Given the description of an element on the screen output the (x, y) to click on. 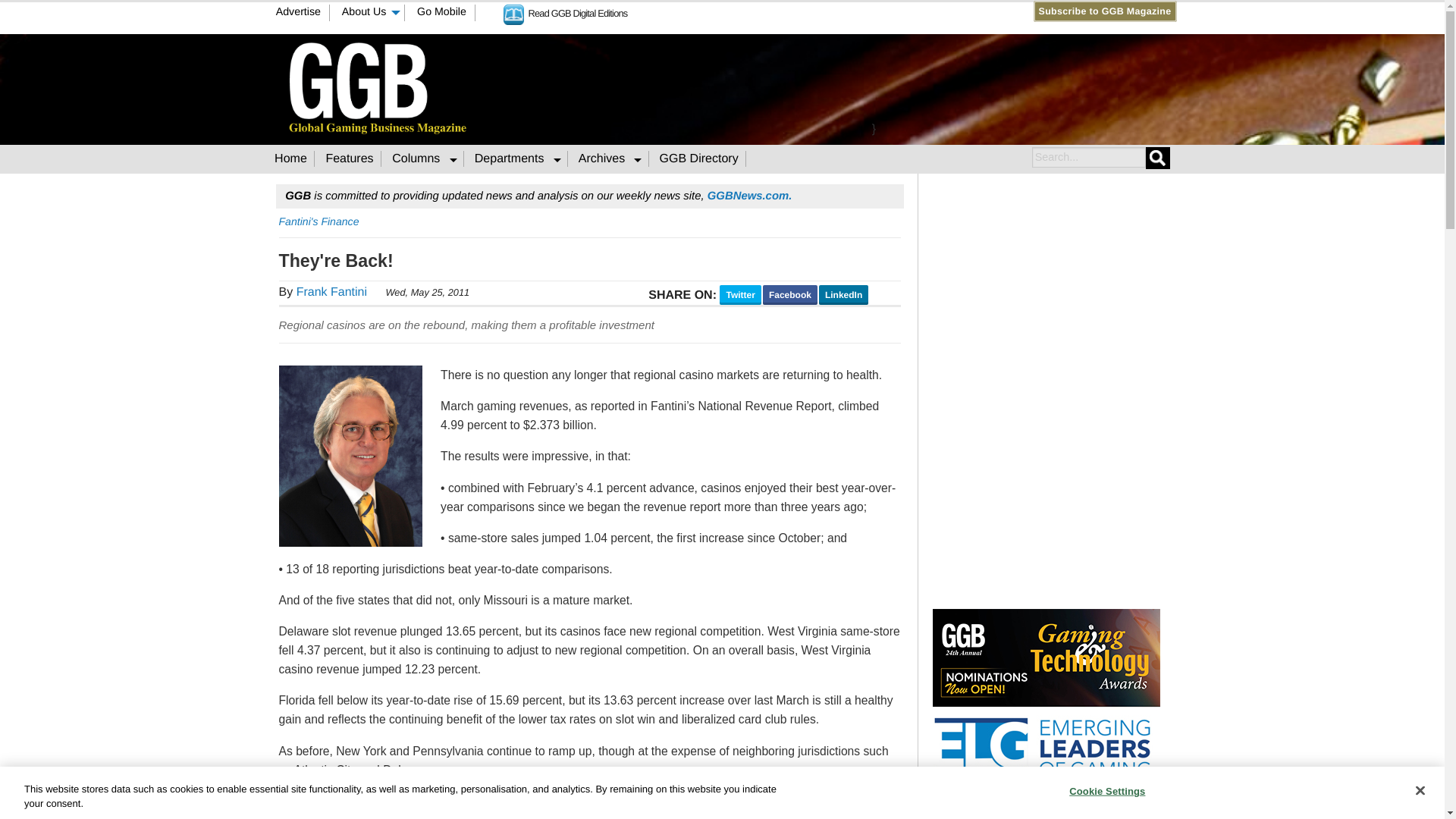
Facebook (752, 11)
Advertise (298, 12)
View all articles by Frank Fantini (331, 291)
Twitter (767, 11)
Go Mobile (442, 12)
GGB Directory (698, 158)
Search for: (1087, 157)
GGB News (749, 196)
LinkedIn (781, 11)
3rd party ad content (873, 86)
About Us (369, 12)
Read GGB Digital Editions (565, 12)
